Given the description of an element on the screen output the (x, y) to click on. 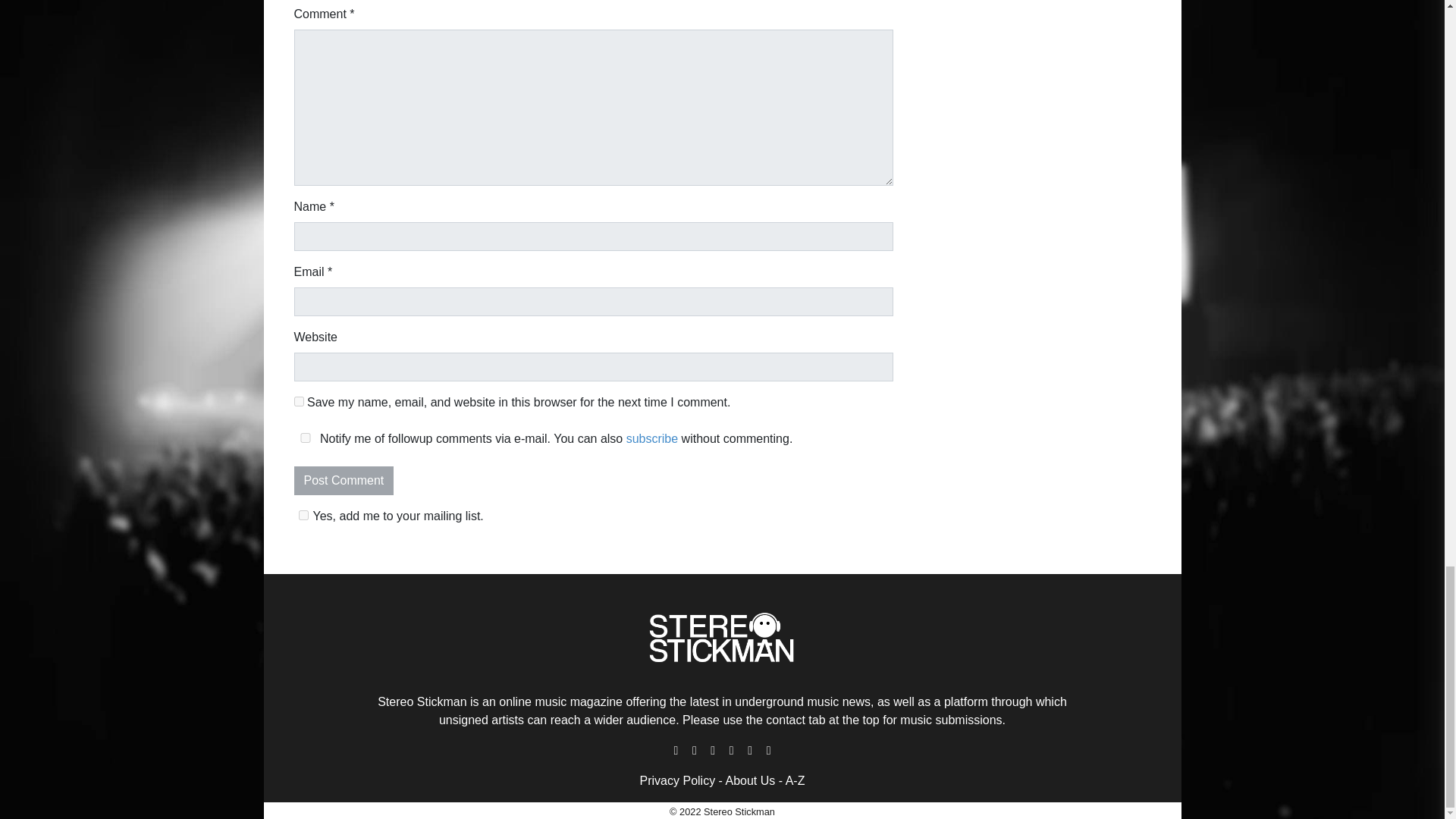
Post Comment (344, 480)
1 (303, 515)
Post Comment (344, 480)
subscribe (652, 438)
yes (299, 401)
yes (305, 438)
